Given the description of an element on the screen output the (x, y) to click on. 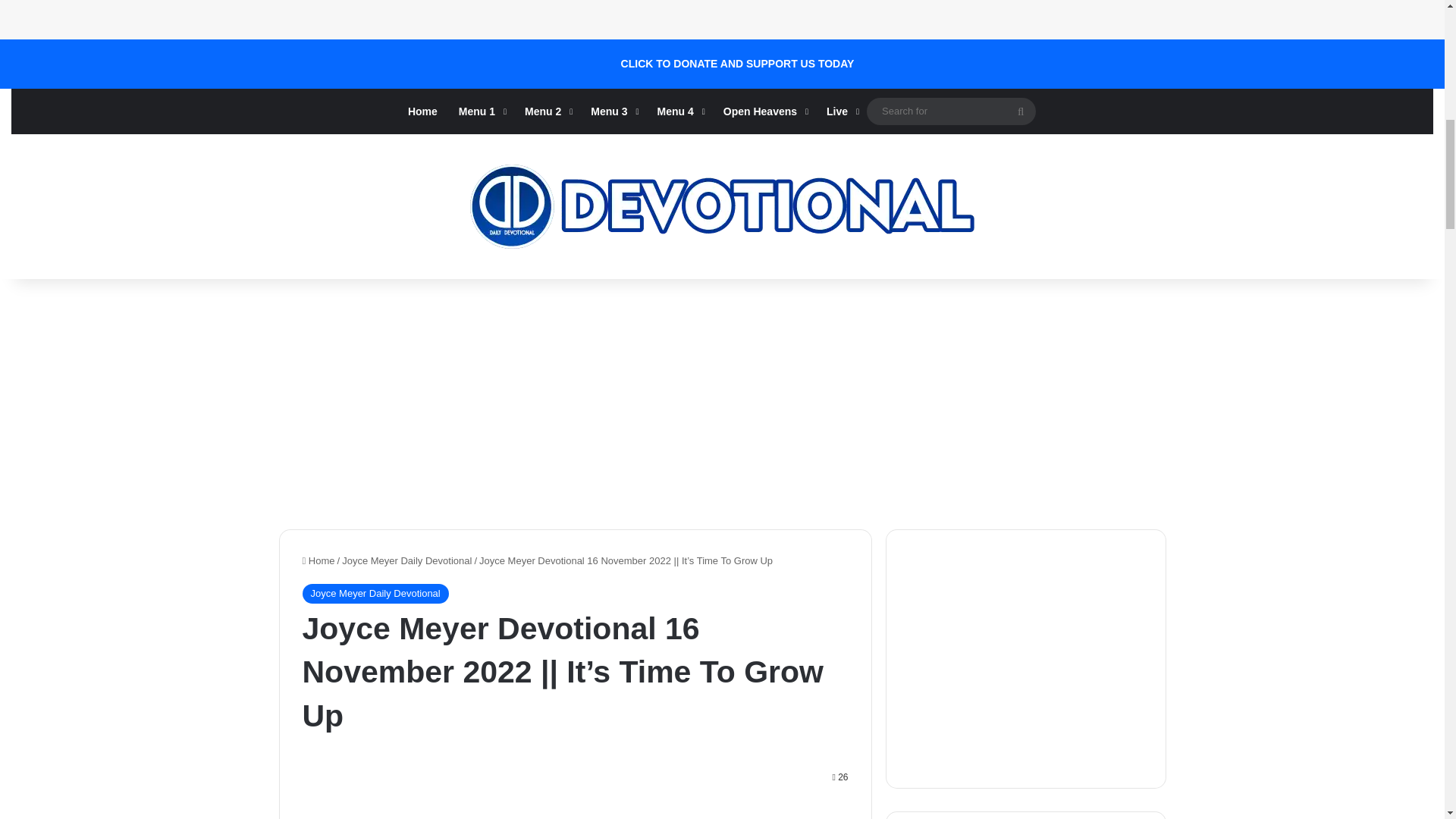
Open Heavens (764, 111)
Home (422, 111)
Search for (950, 110)
CLICK TO DONATE AND SUPPORT US TODAY (737, 63)
CLICK TO DONATE AND SUPPORT US TODAY (737, 63)
Daily Devotional Today (722, 206)
Menu 3 (612, 111)
Menu 4 (679, 111)
Advertisement (599, 813)
Menu 2 (546, 111)
